Given the description of an element on the screen output the (x, y) to click on. 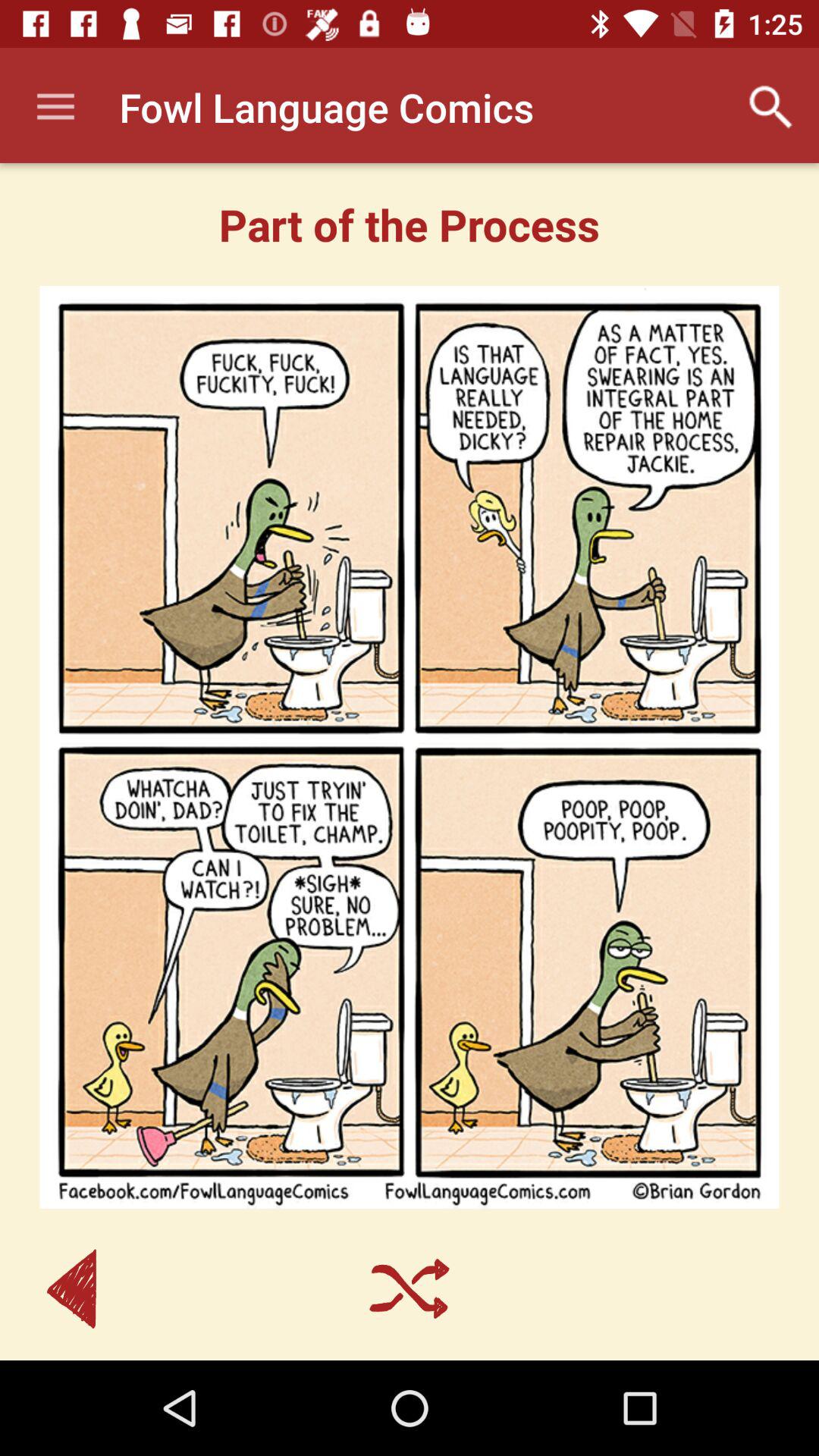
choose icon at the center (409, 747)
